Given the description of an element on the screen output the (x, y) to click on. 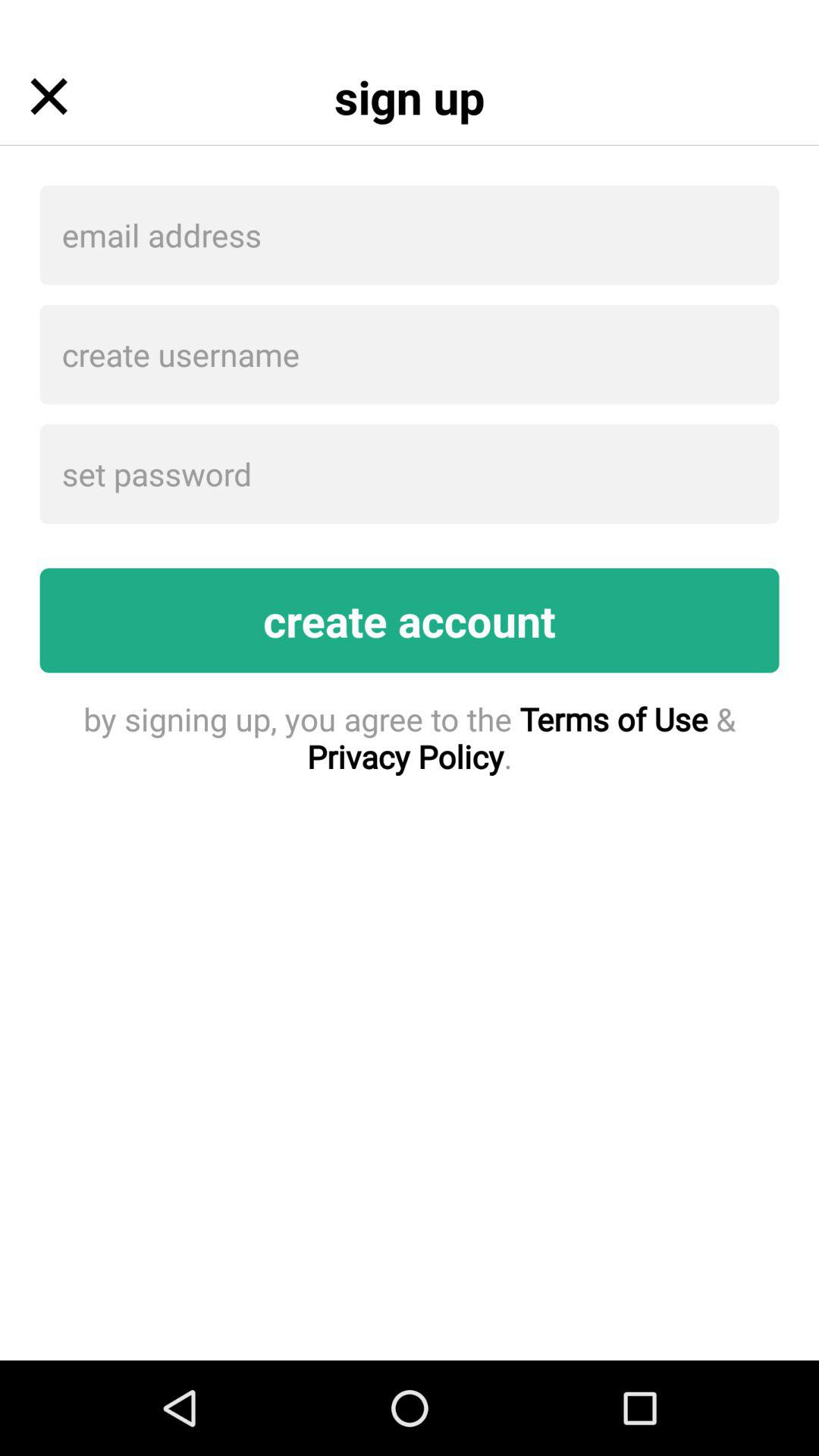
tap icon above the by signing up (409, 620)
